Given the description of an element on the screen output the (x, y) to click on. 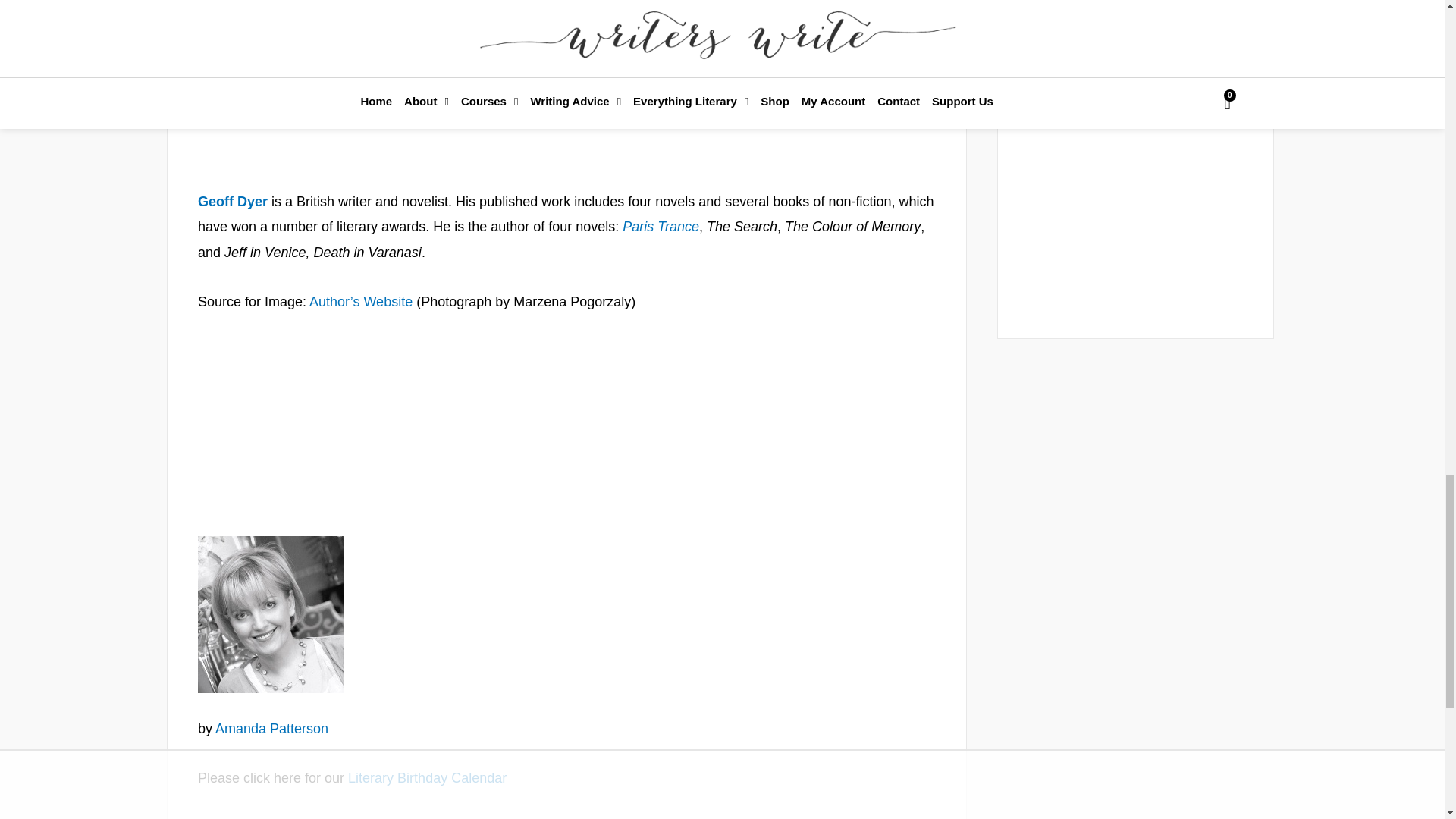
Amanda Patterson (270, 614)
